Given the description of an element on the screen output the (x, y) to click on. 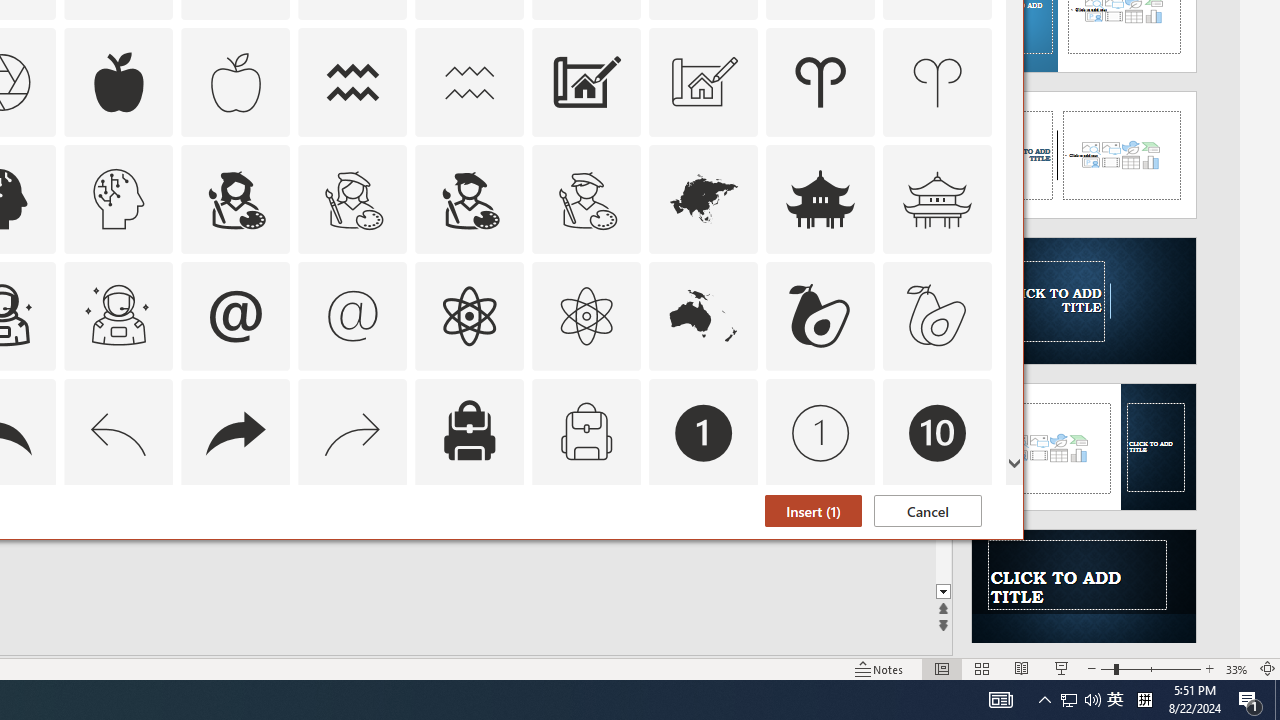
AutomationID: Icons_Architecture (586, 82)
AutomationID: Icons_Badge8_M (703, 550)
AutomationID: Icons_Apple (118, 82)
AutomationID: Icons_AsianTemple (820, 198)
AutomationID: Icons_Asia (703, 198)
